Given the description of an element on the screen output the (x, y) to click on. 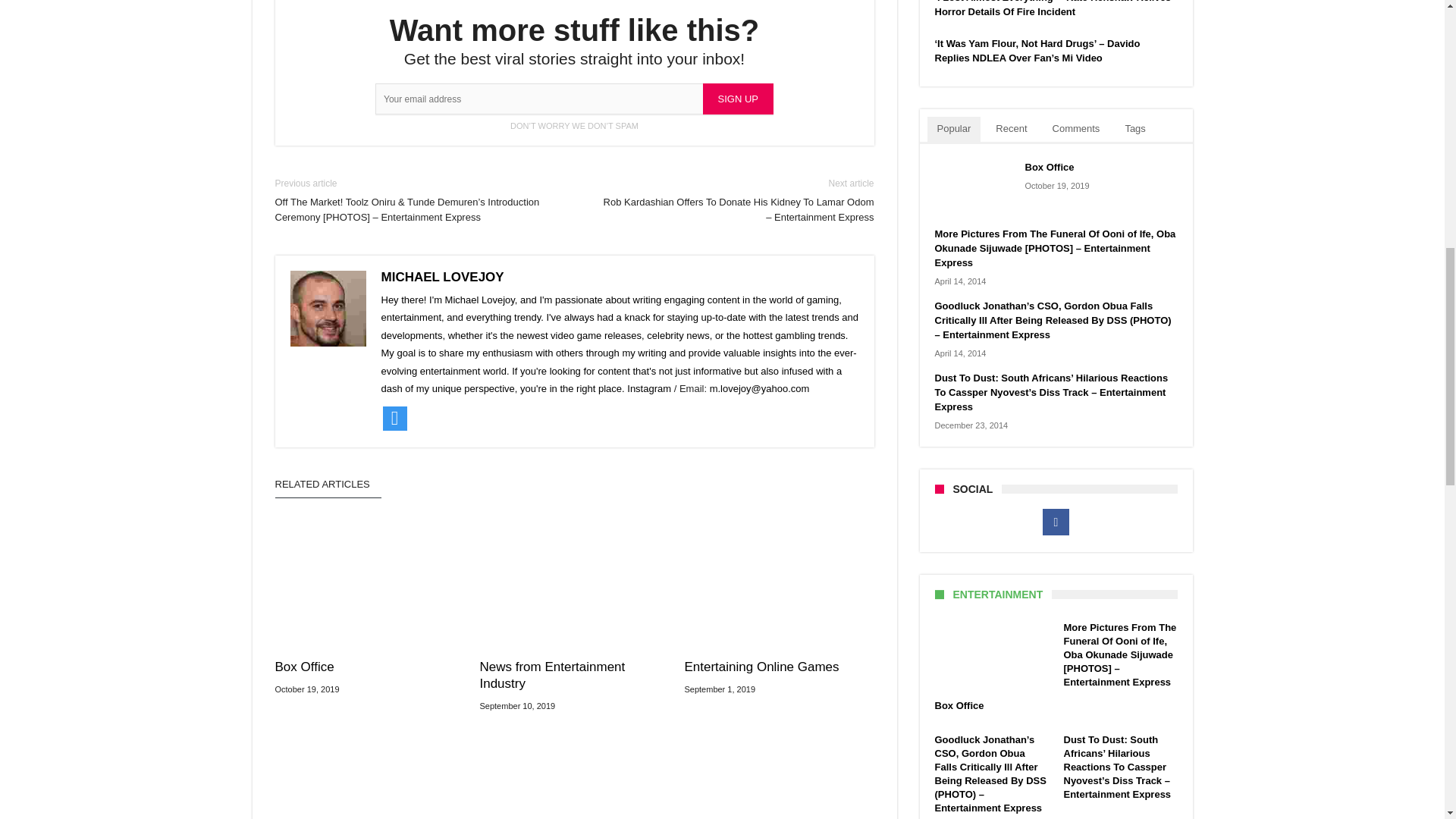
Sign up (738, 98)
Sign up (738, 98)
Go Top (1417, 60)
MICHAEL LOVEJOY (441, 277)
Facebook (1055, 522)
